Given the description of an element on the screen output the (x, y) to click on. 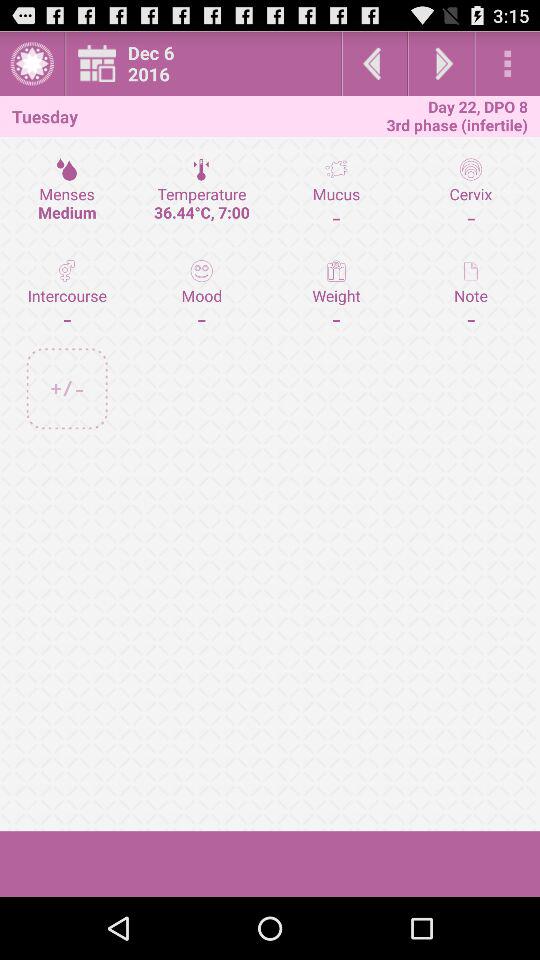
jump until the menses
medium icon (67, 193)
